Given the description of an element on the screen output the (x, y) to click on. 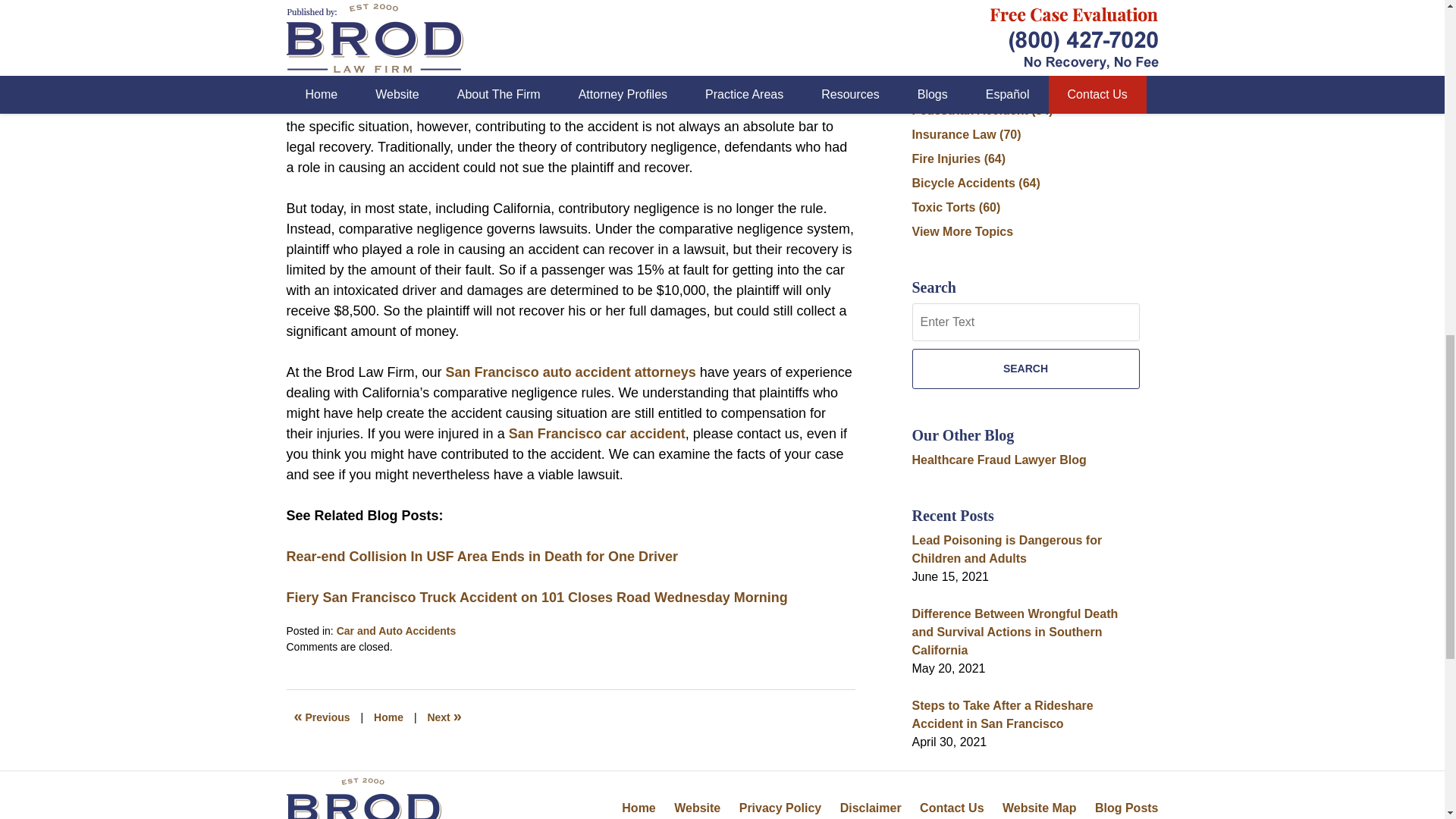
Car and Auto Accidents (396, 630)
San Francisco auto accident attorneys (570, 372)
View all posts in Car and Auto Accidents (396, 630)
Home (388, 717)
Rear-end Collision In USF Area Ends in Death for One Driver (482, 556)
San Francisco car accident (596, 433)
75 Year Old San Francisco Man Evicted from Apartment (443, 717)
